Given the description of an element on the screen output the (x, y) to click on. 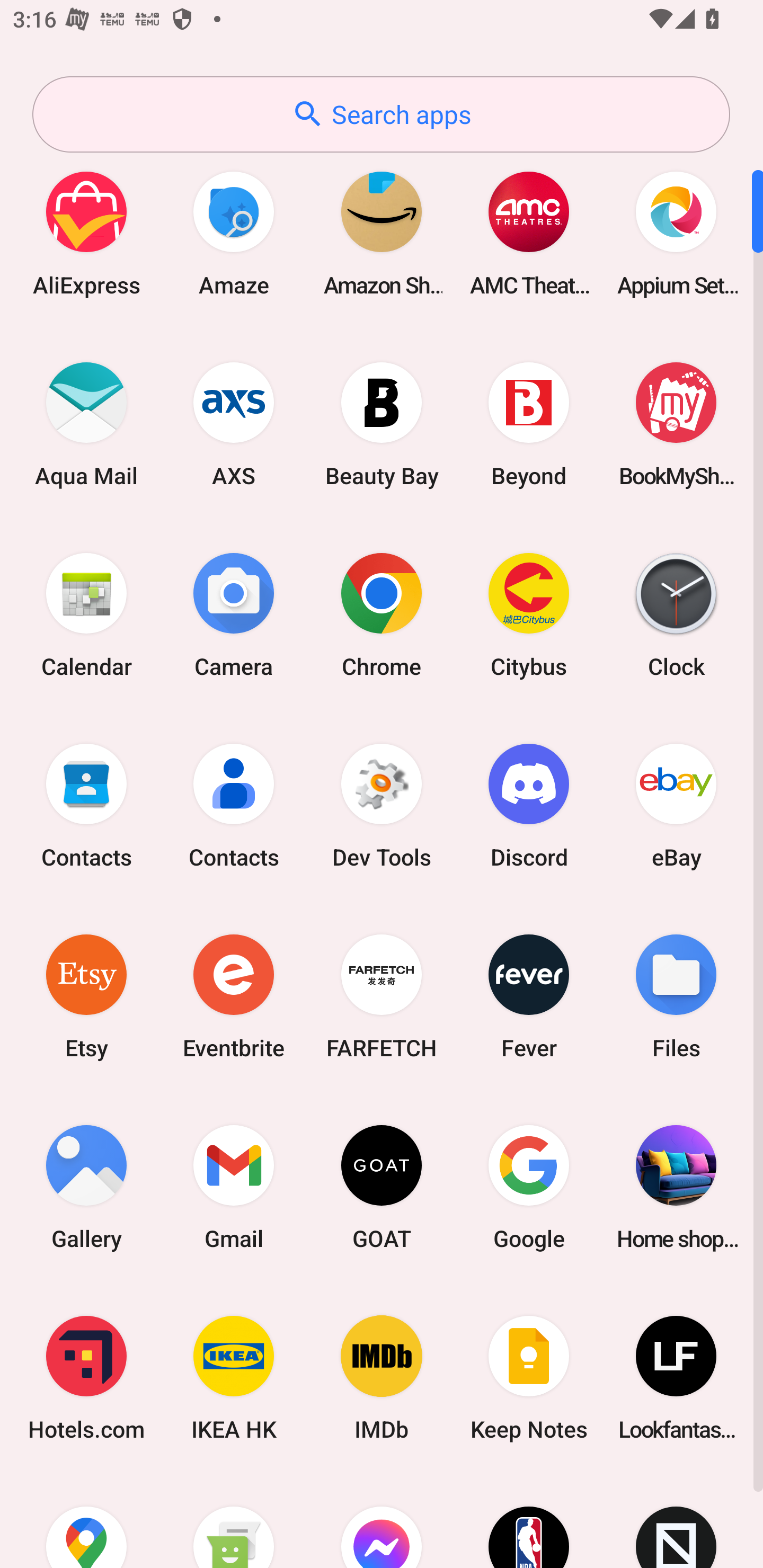
  Search apps (381, 114)
AliExpress (86, 233)
Amaze (233, 233)
Amazon Shopping (381, 233)
AMC Theatres (528, 233)
Appium Settings (676, 233)
Aqua Mail (86, 424)
AXS (233, 424)
Beauty Bay (381, 424)
Beyond (528, 424)
BookMyShow (676, 424)
Calendar (86, 614)
Camera (233, 614)
Chrome (381, 614)
Citybus (528, 614)
Clock (676, 614)
Contacts (86, 805)
Contacts (233, 805)
Dev Tools (381, 805)
Discord (528, 805)
eBay (676, 805)
Etsy (86, 996)
Eventbrite (233, 996)
FARFETCH (381, 996)
Fever (528, 996)
Files (676, 996)
Gallery (86, 1186)
Gmail (233, 1186)
GOAT (381, 1186)
Google (528, 1186)
Home shopping (676, 1186)
Hotels.com (86, 1377)
IKEA HK (233, 1377)
IMDb (381, 1377)
Keep Notes (528, 1377)
Lookfantastic (676, 1377)
